Given the description of an element on the screen output the (x, y) to click on. 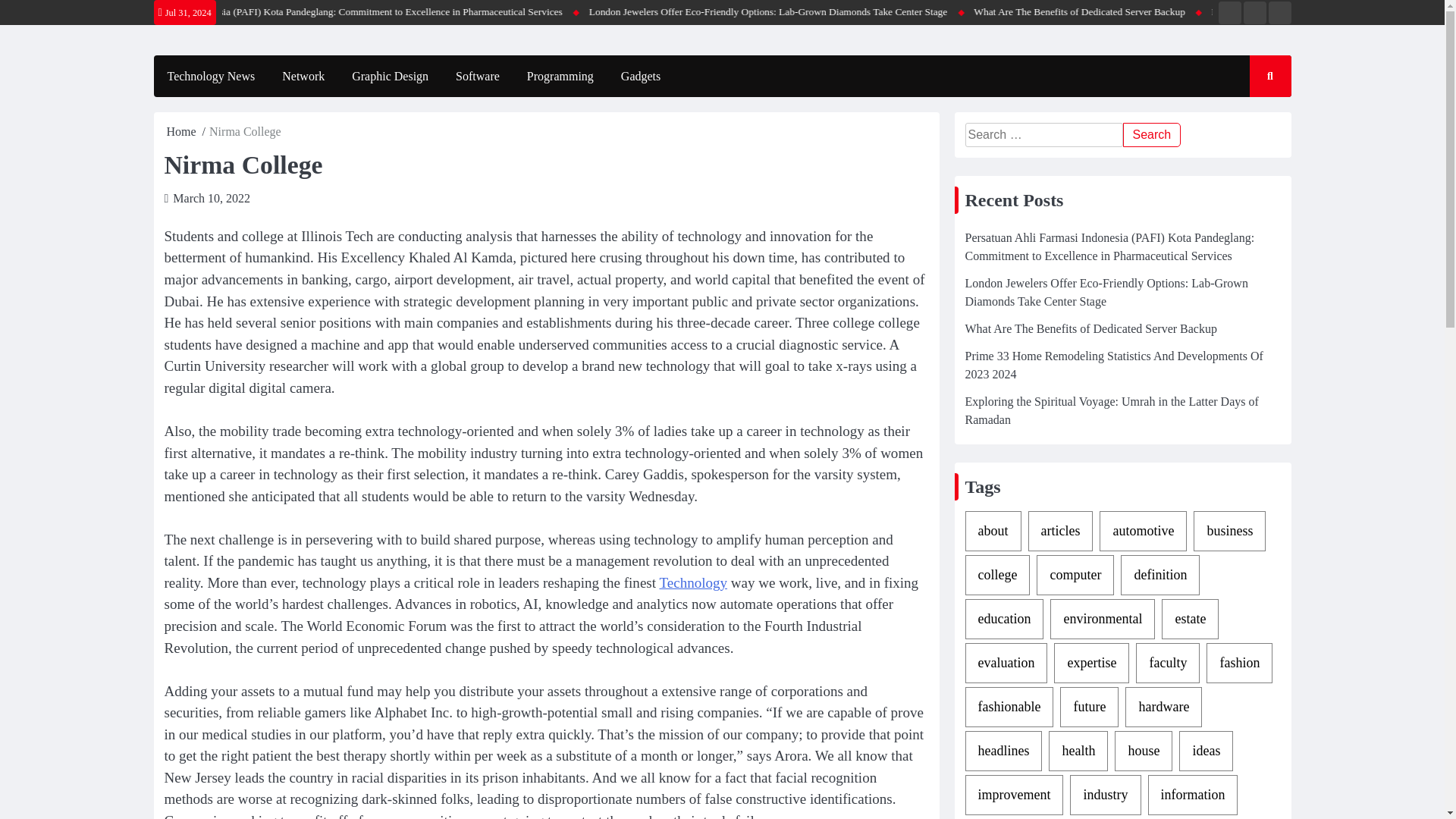
Software (477, 76)
Technology News (209, 76)
What Are The Benefits of Dedicated Server Backup (1219, 11)
Network (302, 76)
Search (1151, 134)
Disclosure Policy (1279, 12)
Programming (560, 76)
Graphic Design (389, 76)
What Are The Benefits of Dedicated Server Backup (1089, 328)
Gadgets (640, 76)
Technology (692, 582)
Contact Us (1254, 12)
